Given the description of an element on the screen output the (x, y) to click on. 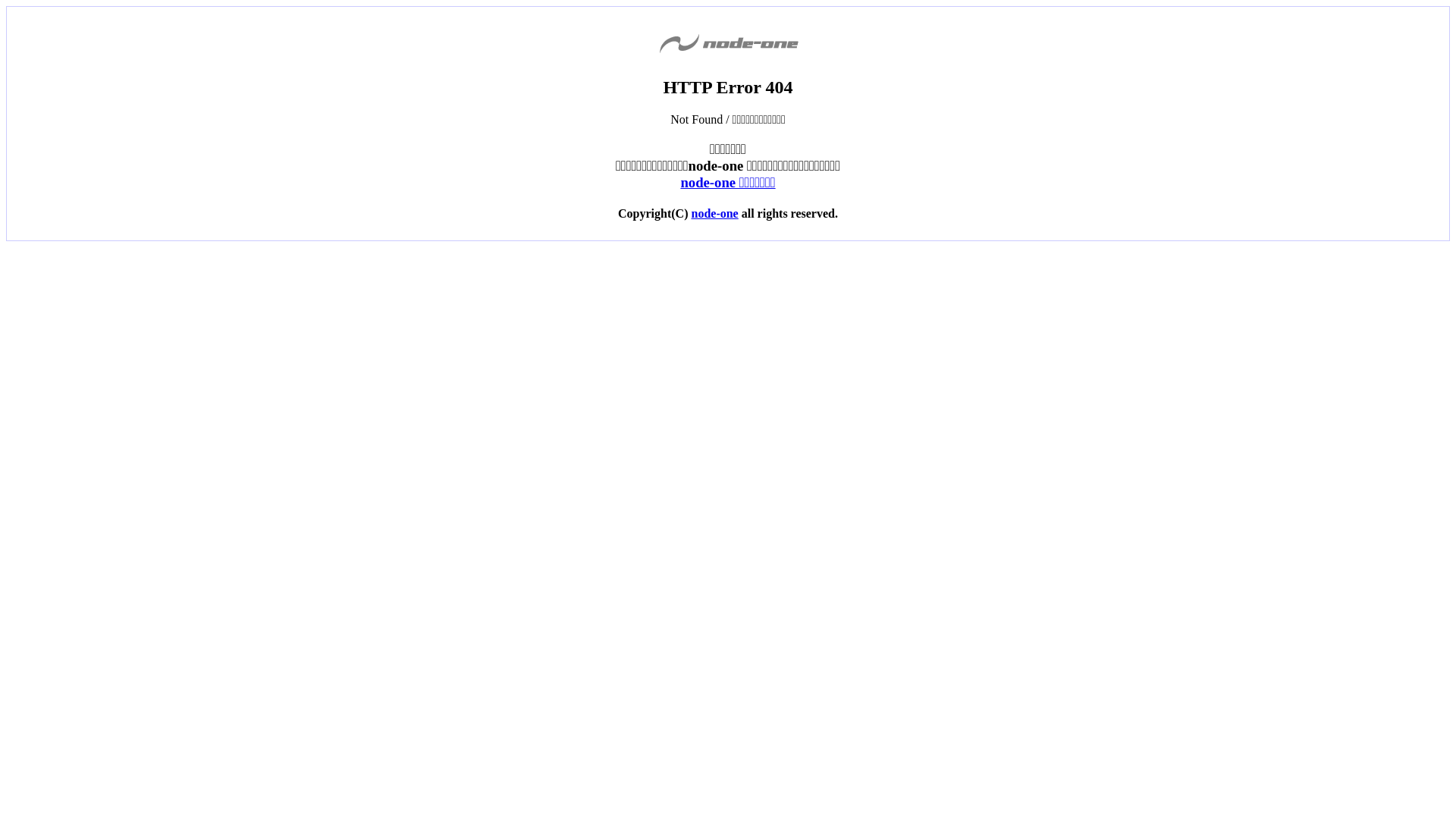
node-one Element type: text (713, 213)
